Given the description of an element on the screen output the (x, y) to click on. 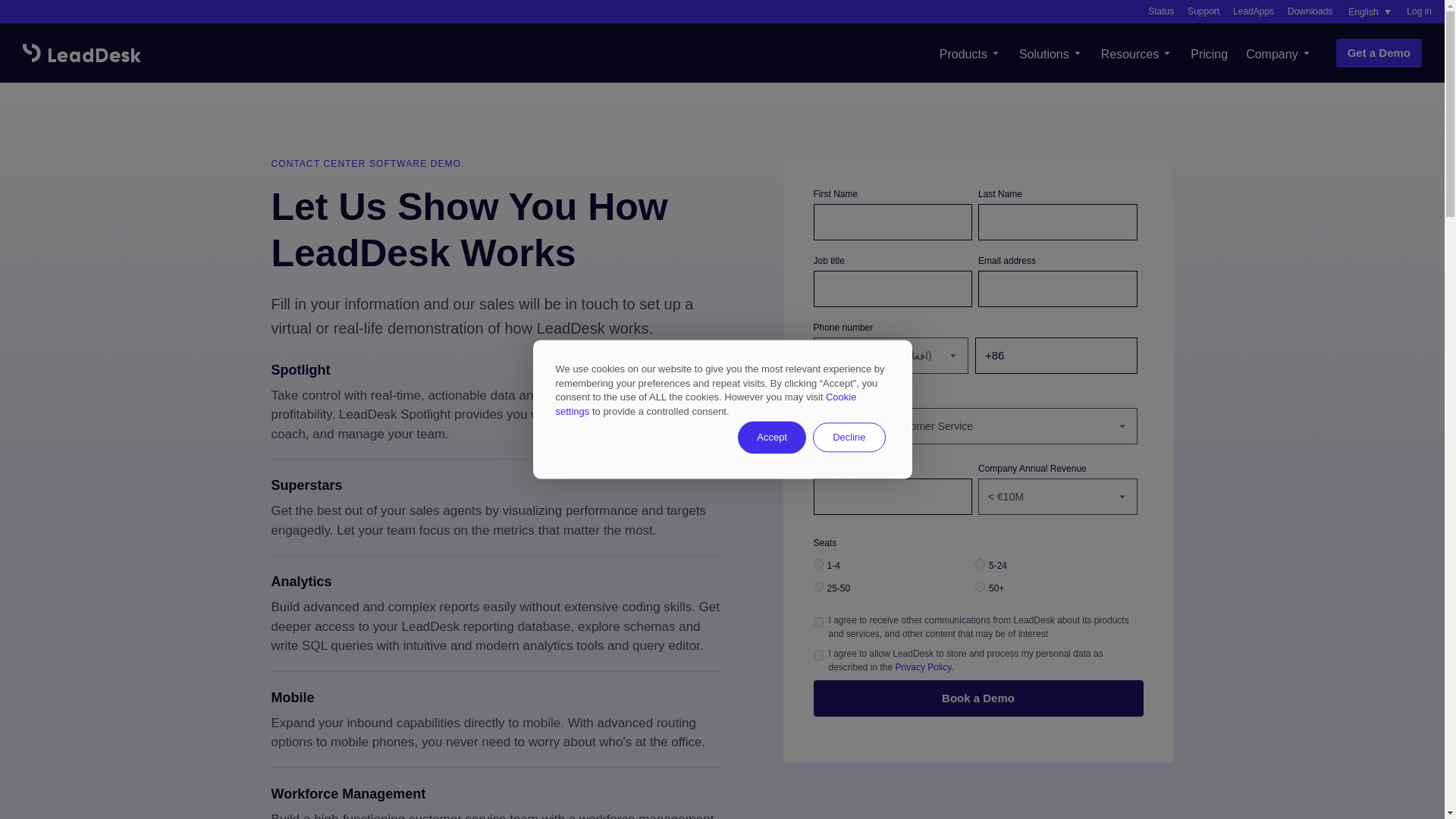
Log in (1418, 10)
LeadApps (1253, 10)
Status (1160, 10)
5-25 (980, 563)
Downloads (1309, 10)
Products (970, 52)
1-5 (817, 563)
Solutions (1051, 52)
true (817, 655)
English (1368, 11)
Support (1204, 10)
Book a Demo (977, 698)
true (817, 622)
25-50 (817, 586)
